Given the description of an element on the screen output the (x, y) to click on. 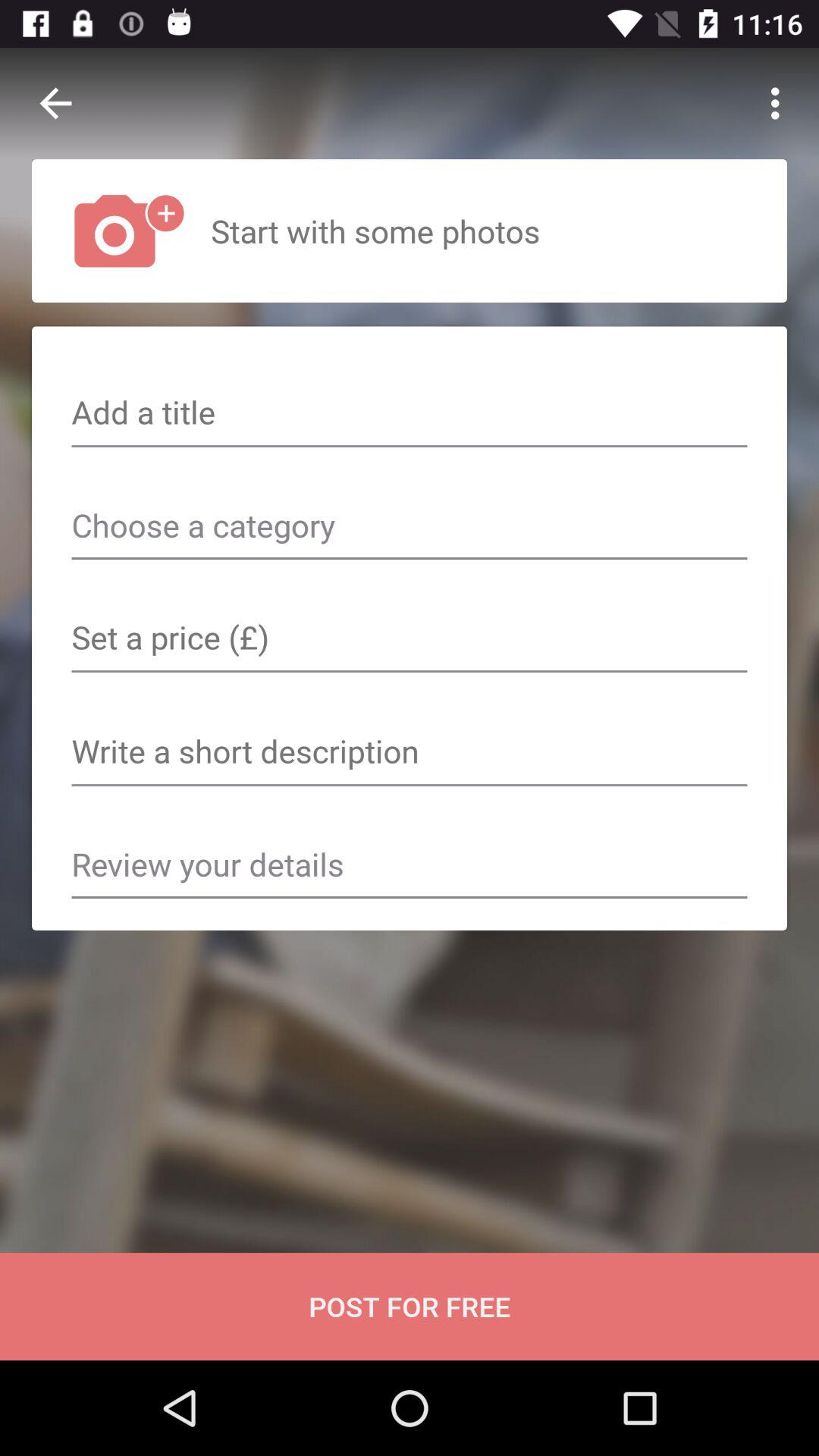
text box (409, 752)
